Given the description of an element on the screen output the (x, y) to click on. 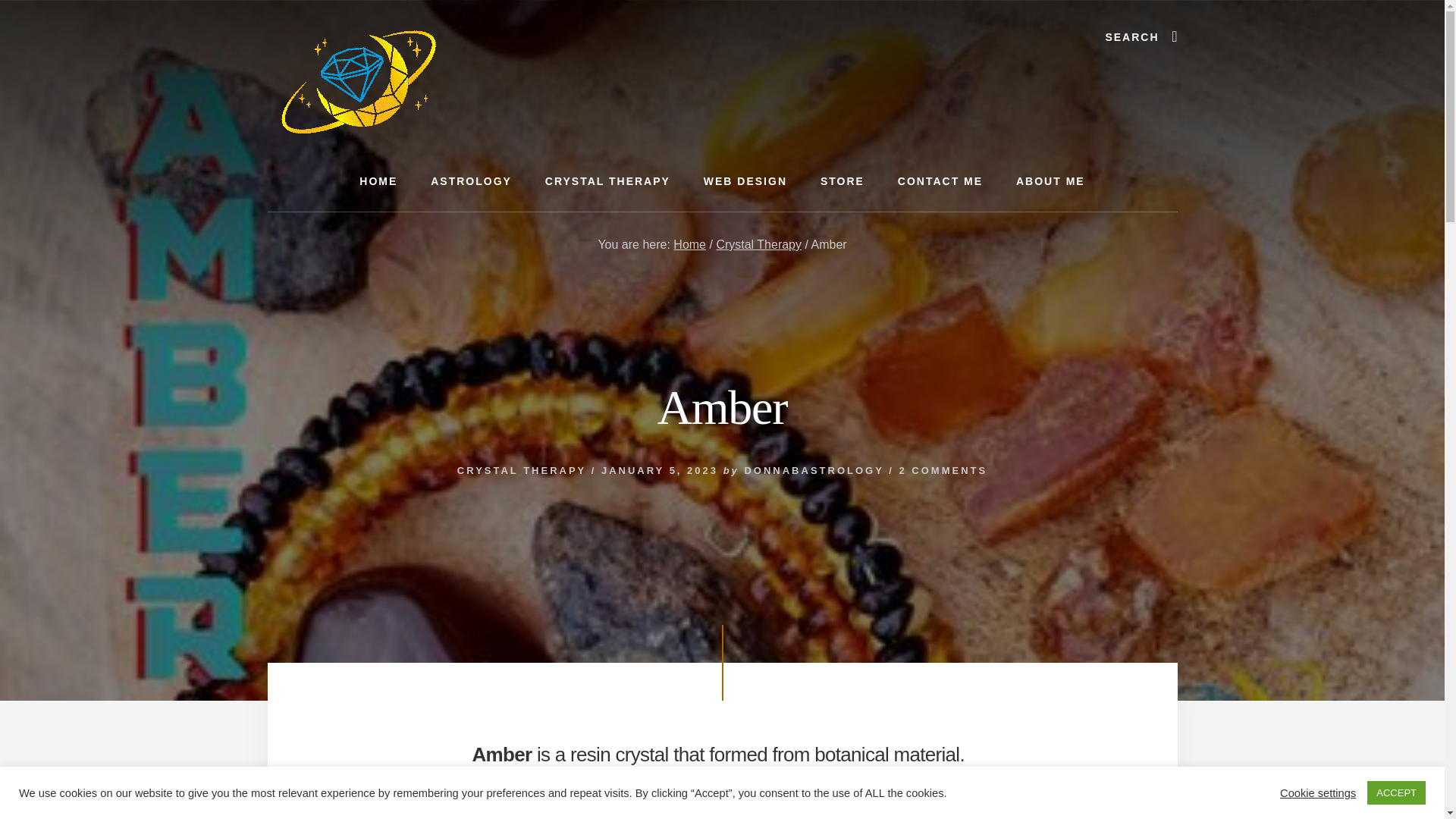
2 COMMENTS (942, 470)
HOME (377, 181)
WEB DESIGN (745, 181)
CRYSTAL THERAPY (607, 181)
CRYSTAL THERAPY (521, 470)
CONTACT ME (939, 181)
STORE (842, 181)
ASTROLOGY (470, 181)
Crystal Therapy (759, 244)
Home (689, 244)
DONNABASTROLOGY (813, 470)
